Given the description of an element on the screen output the (x, y) to click on. 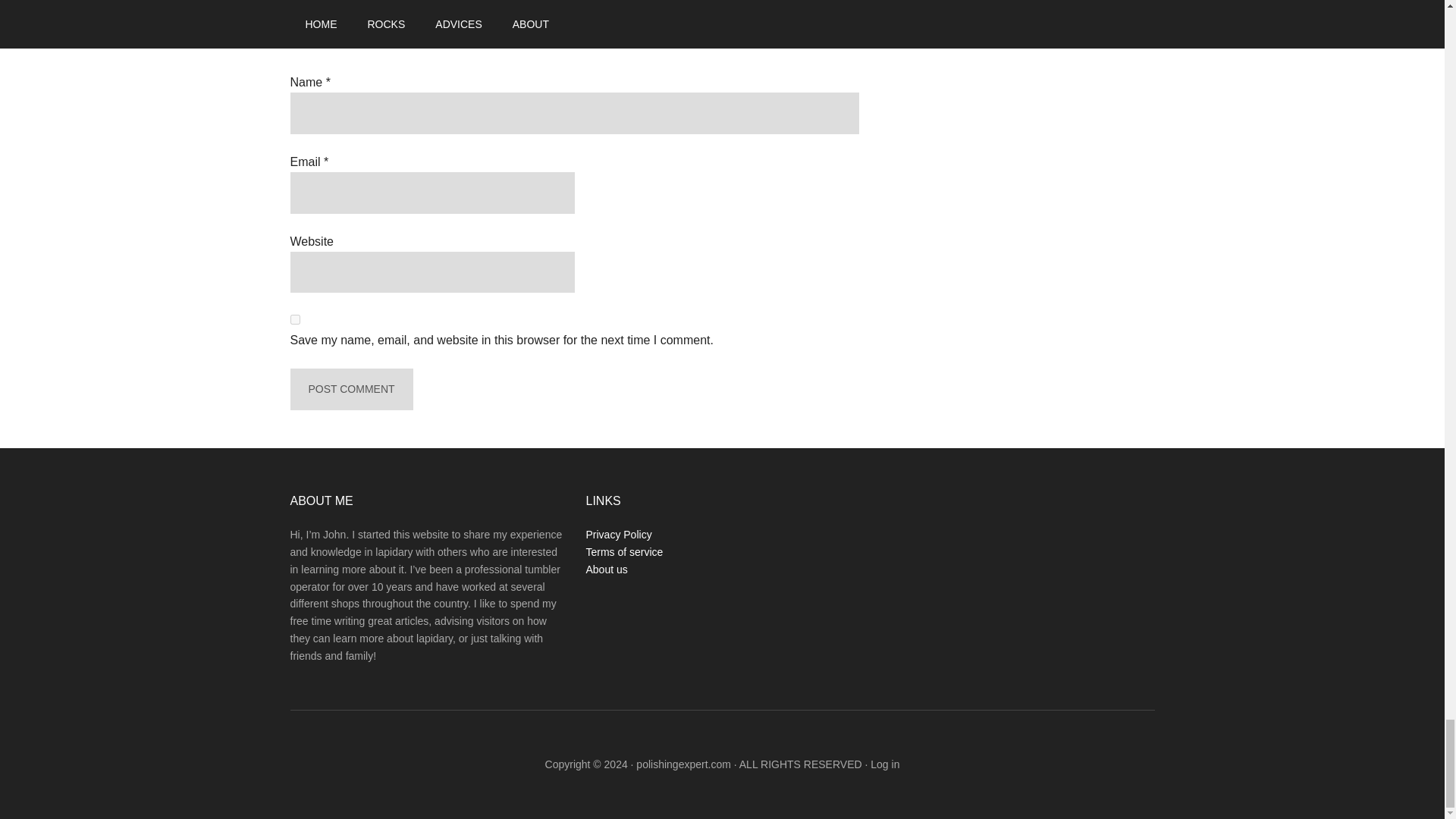
yes (294, 319)
Post Comment (350, 389)
